Given the description of an element on the screen output the (x, y) to click on. 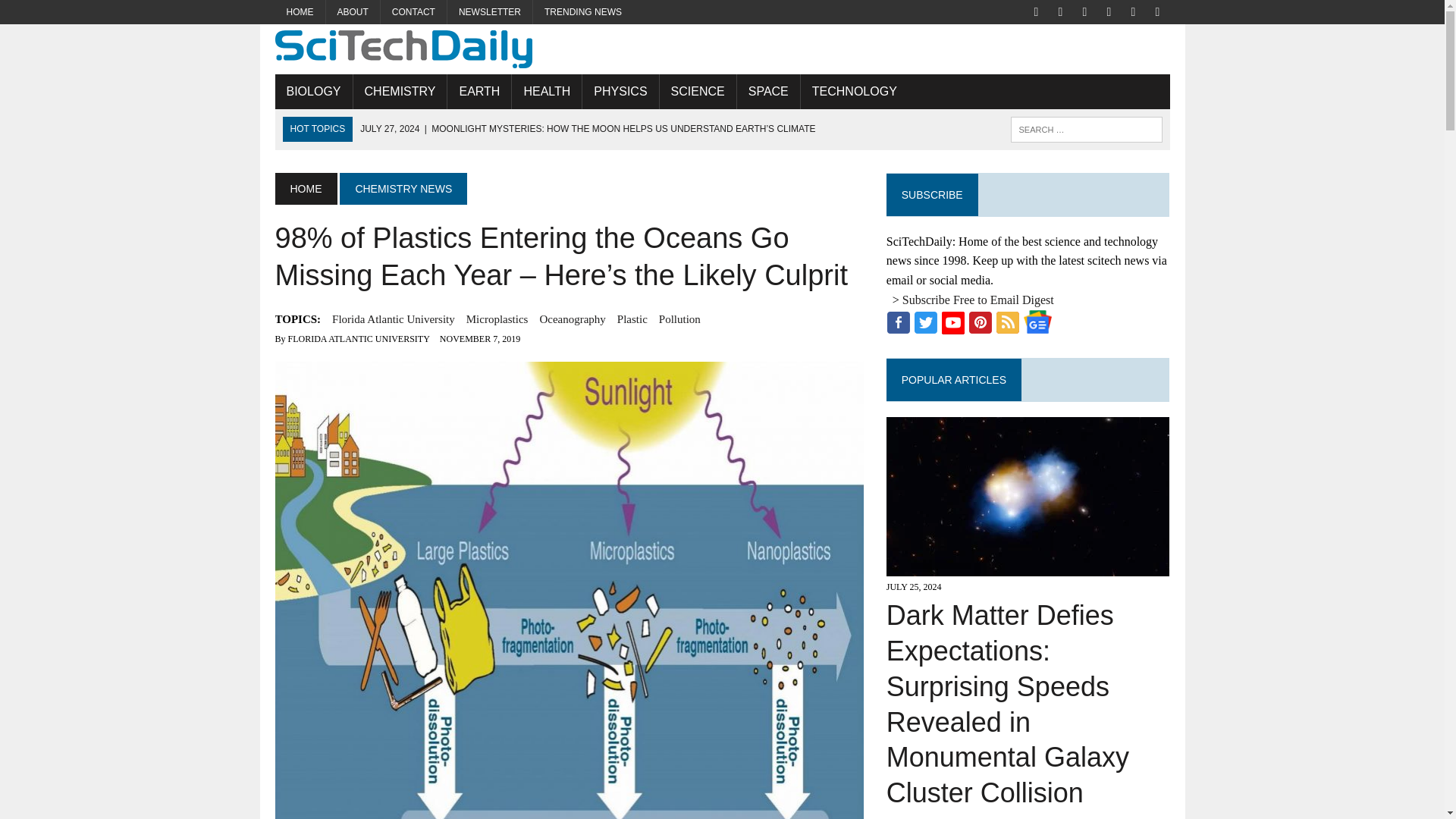
SciTechDaily (722, 48)
ABOUT (353, 12)
CHEMISTRY (399, 91)
HOME (299, 12)
PHYSICS (620, 91)
Contact SciTechDaily.com (413, 12)
NEWSLETTER (489, 12)
About SciTechDaily (353, 12)
CHEMISTRY NEWS (403, 188)
HOME (305, 188)
TRENDING NEWS (582, 12)
Search (75, 14)
SciTechDaily Newsletter (489, 12)
EARTH (478, 91)
SPACE (767, 91)
